Given the description of an element on the screen output the (x, y) to click on. 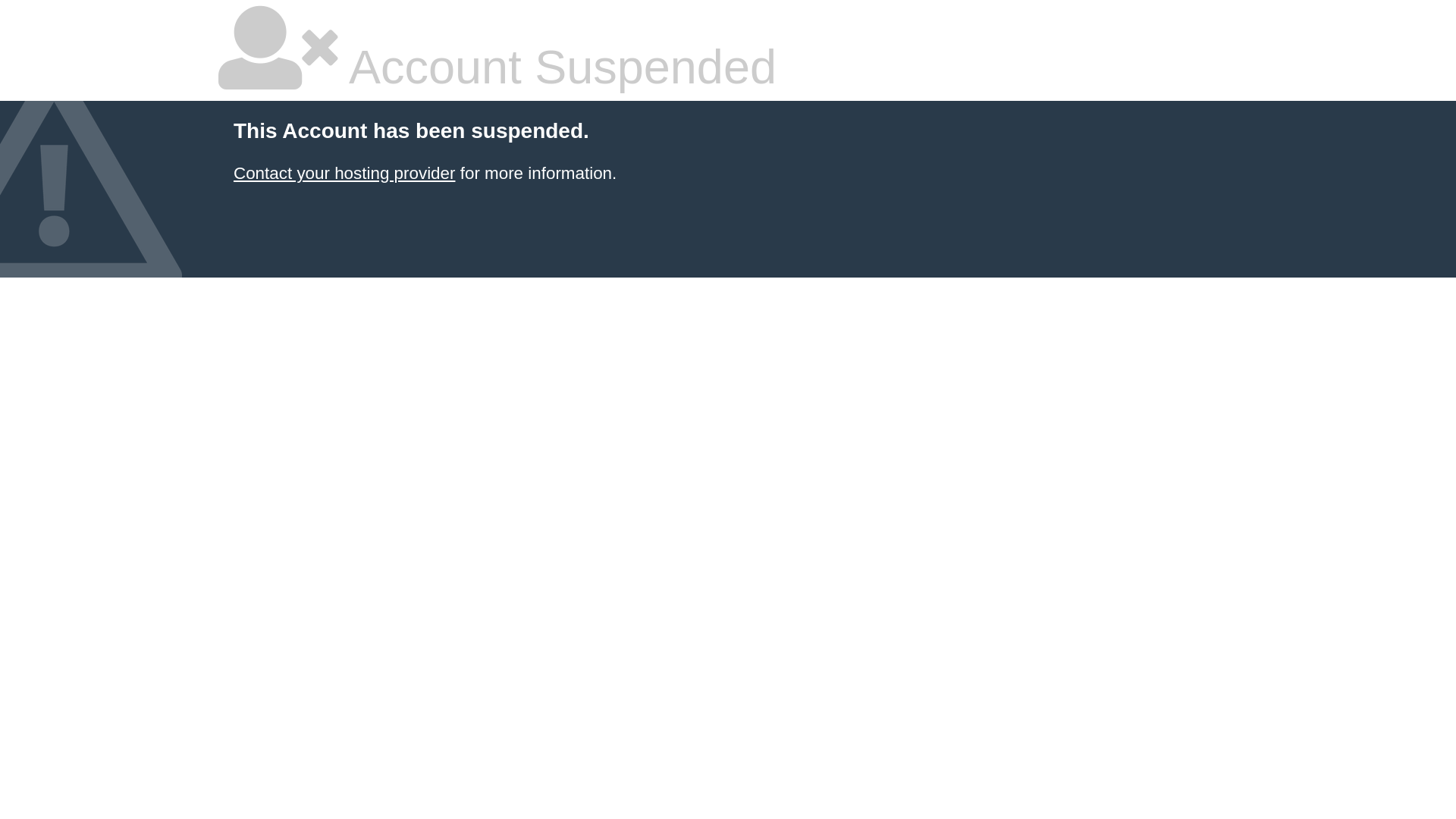
Contact your hosting provider Element type: text (344, 172)
